Given the description of an element on the screen output the (x, y) to click on. 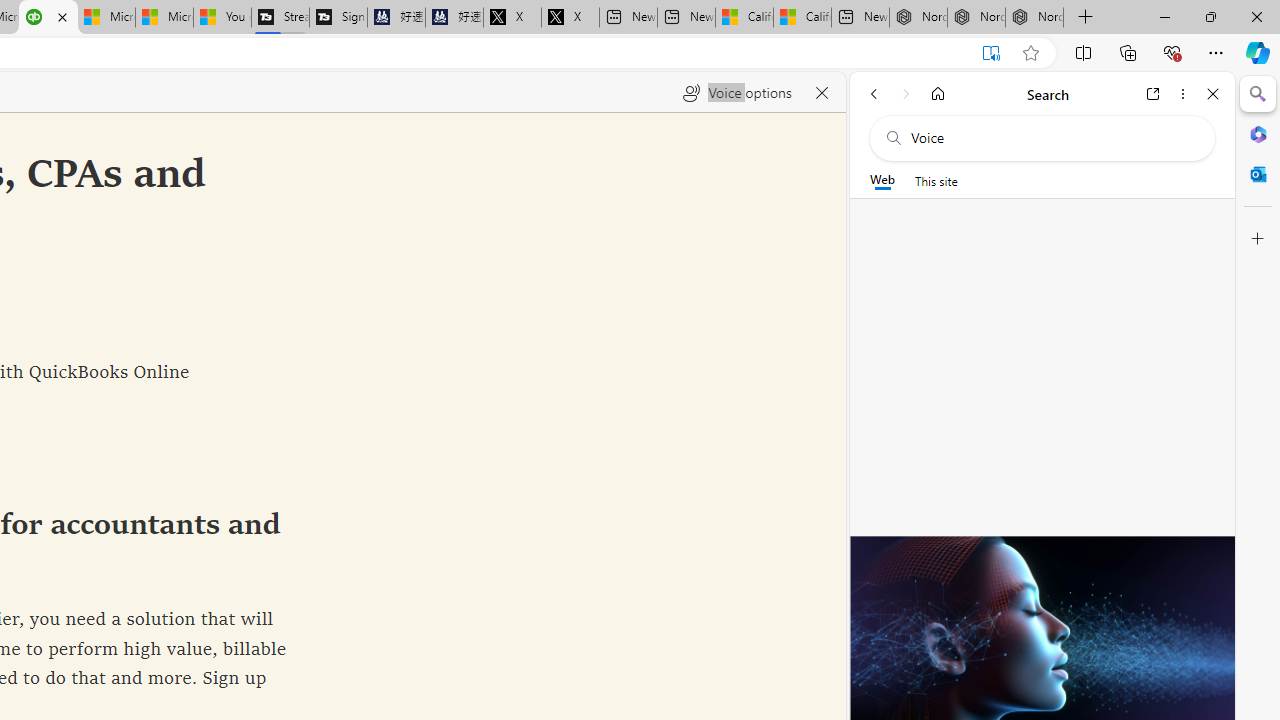
Forward (906, 93)
Web scope (882, 180)
Nordace - Siena Pro 15 Essential Set (1034, 17)
